Given the description of an element on the screen output the (x, y) to click on. 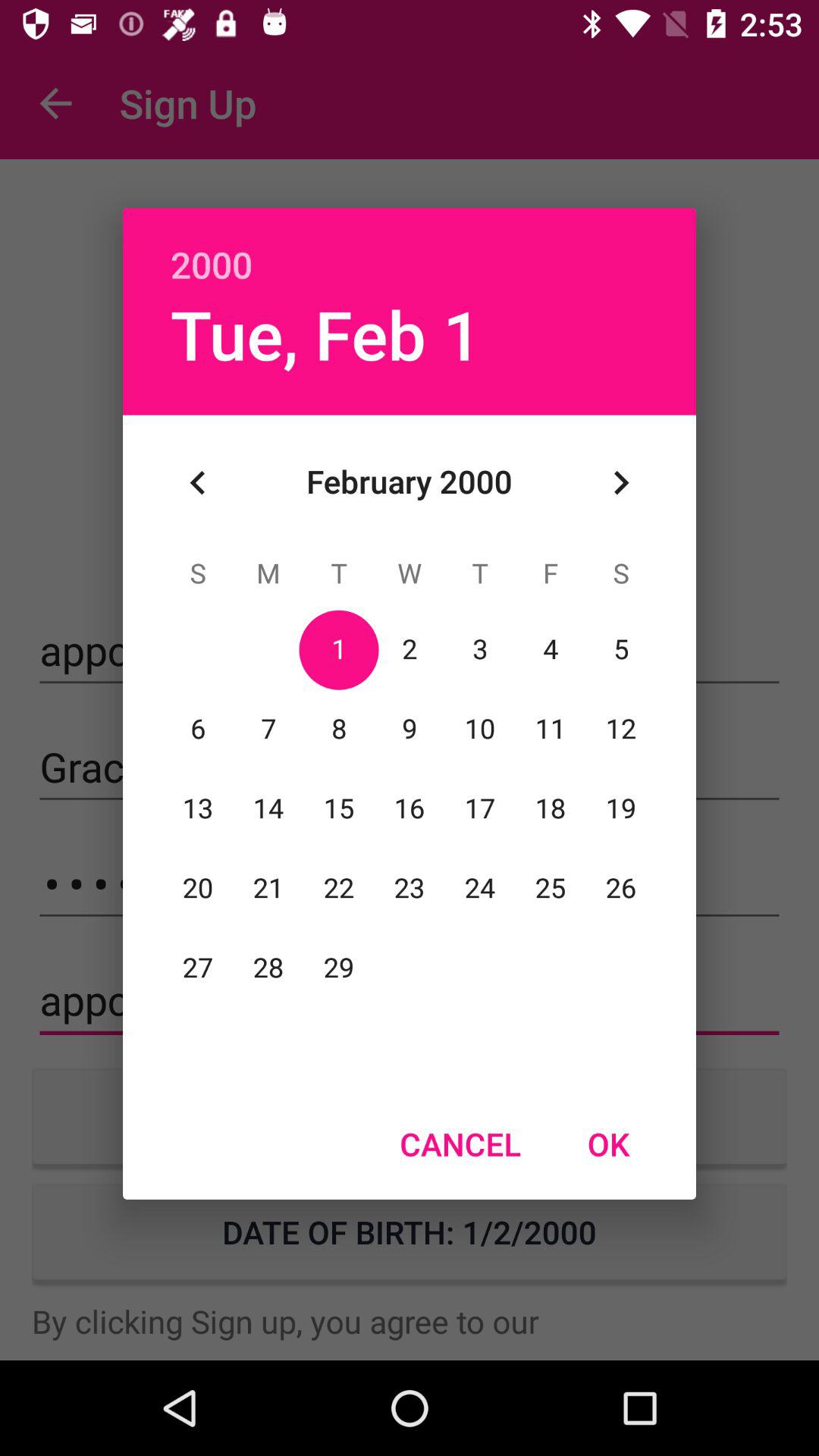
turn on the cancel item (459, 1143)
